Given the description of an element on the screen output the (x, y) to click on. 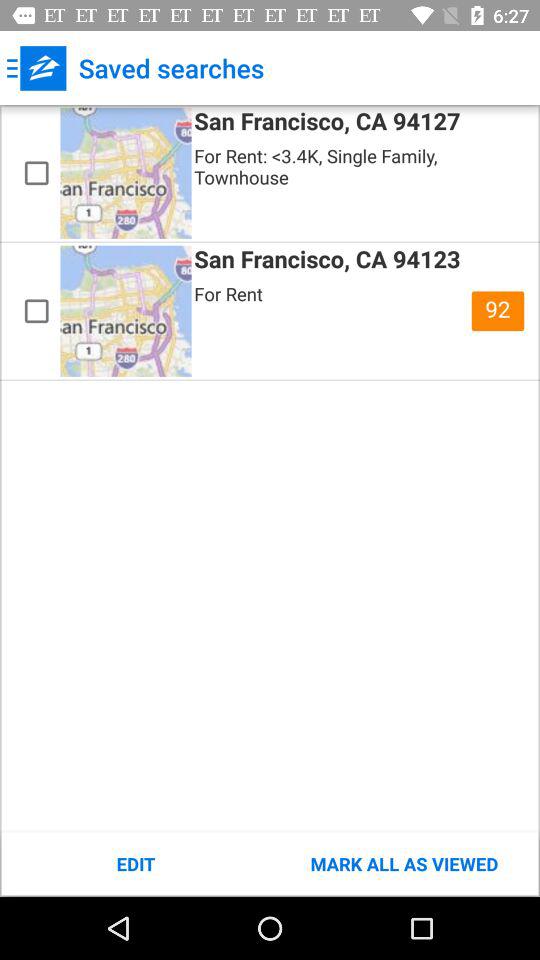
boutton you tick or untick to select (36, 311)
